Given the description of an element on the screen output the (x, y) to click on. 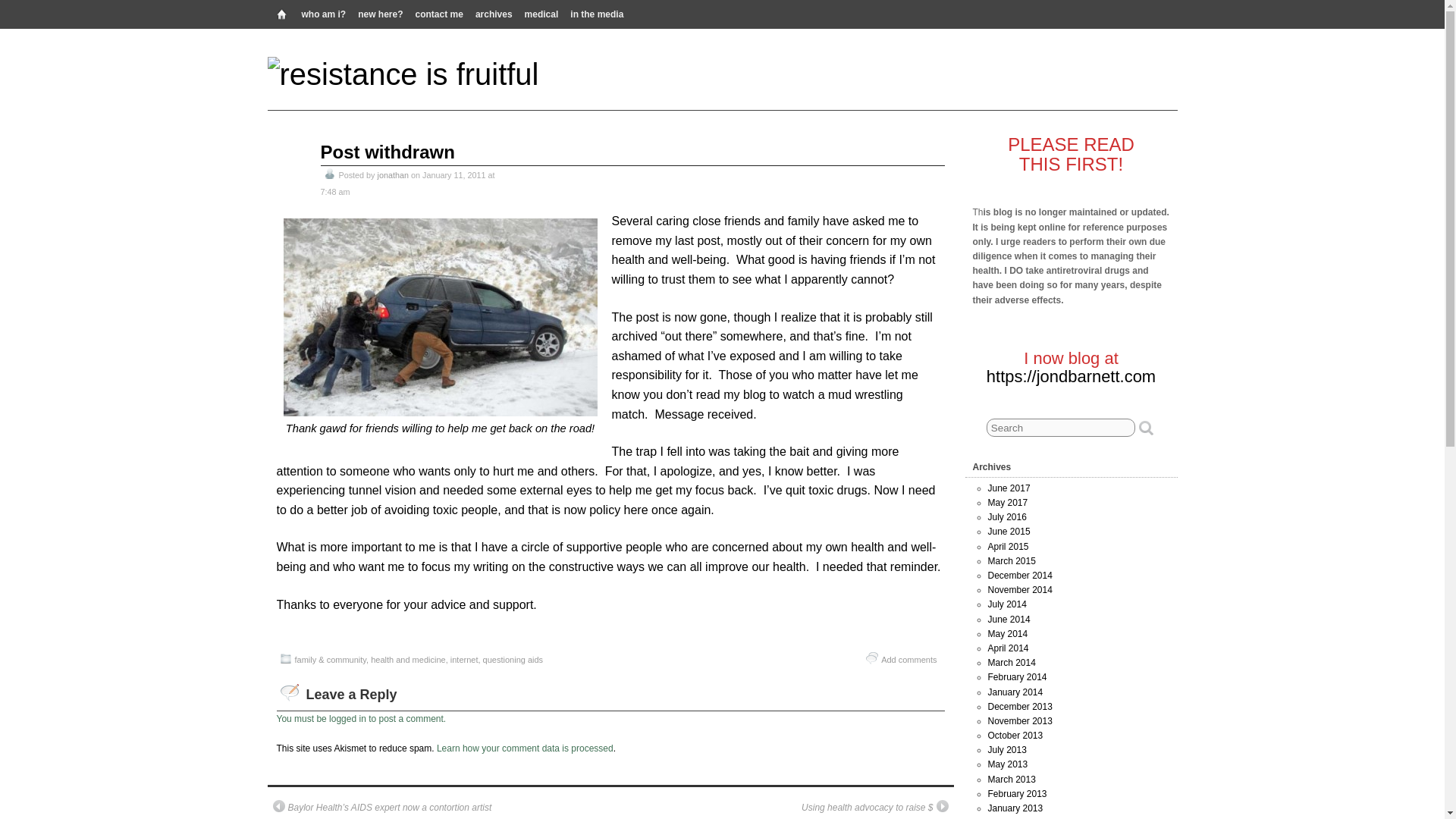
contact me (438, 13)
July 2016 (1006, 516)
in the media (596, 13)
Post withdrawn (387, 151)
April 2015 (1007, 546)
jonathan (393, 174)
April 2014 (1007, 647)
March 2015 (1011, 561)
medical (541, 13)
health and medicine (408, 659)
Learn how your comment data is processed (524, 747)
May 2014 (1007, 633)
June 2017 (1008, 488)
November 2013 (1019, 720)
new here? (380, 13)
